Given the description of an element on the screen output the (x, y) to click on. 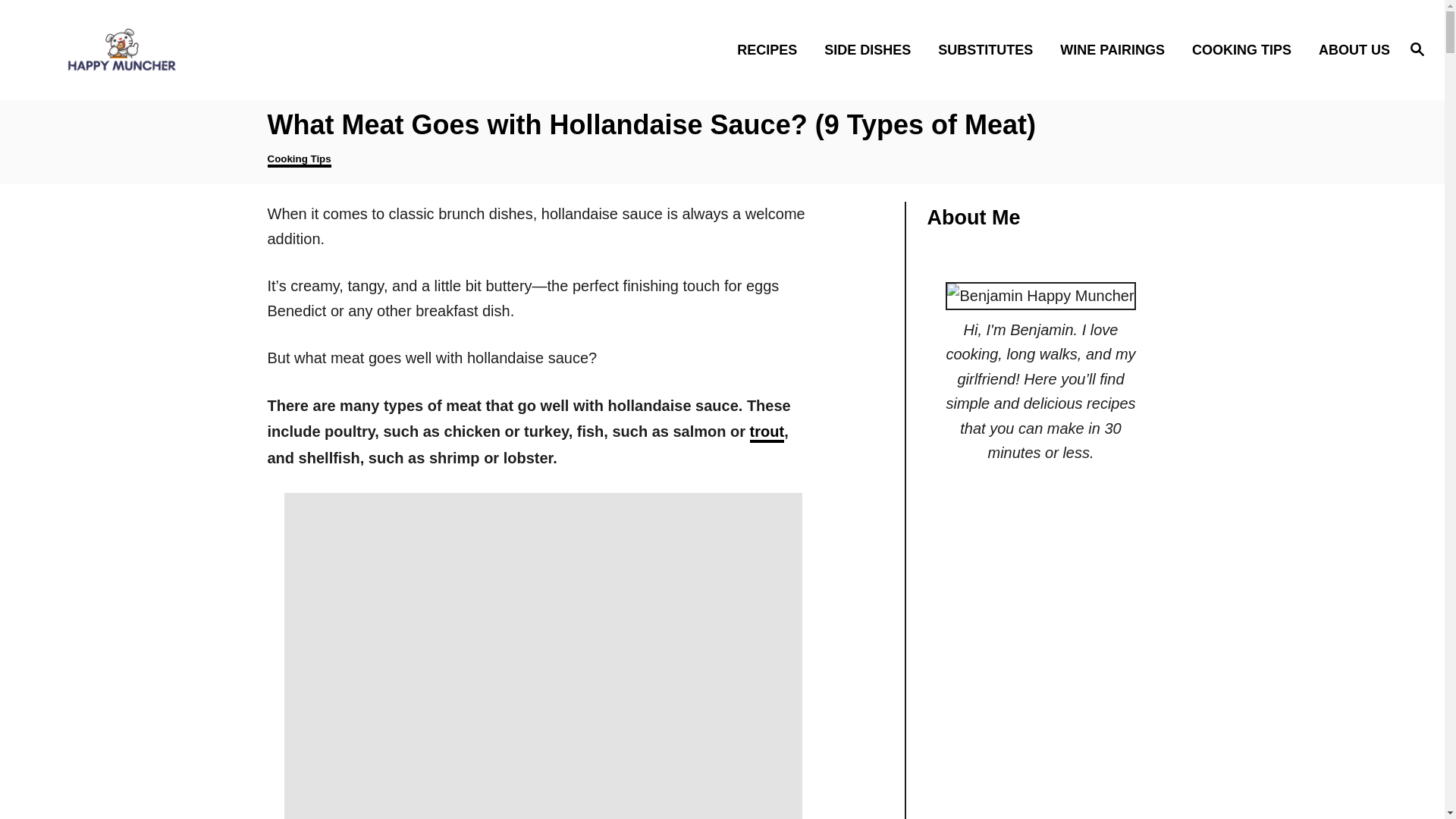
RECIPES (771, 49)
COOKING TIPS (1245, 49)
Cooking Tips (298, 160)
Happy Muncher (204, 49)
WINE PAIRINGS (1116, 49)
SIDE DISHES (871, 49)
Magnifying Glass (1416, 48)
trout (766, 433)
SUBSTITUTES (989, 49)
ABOUT US (1349, 49)
